Given the description of an element on the screen output the (x, y) to click on. 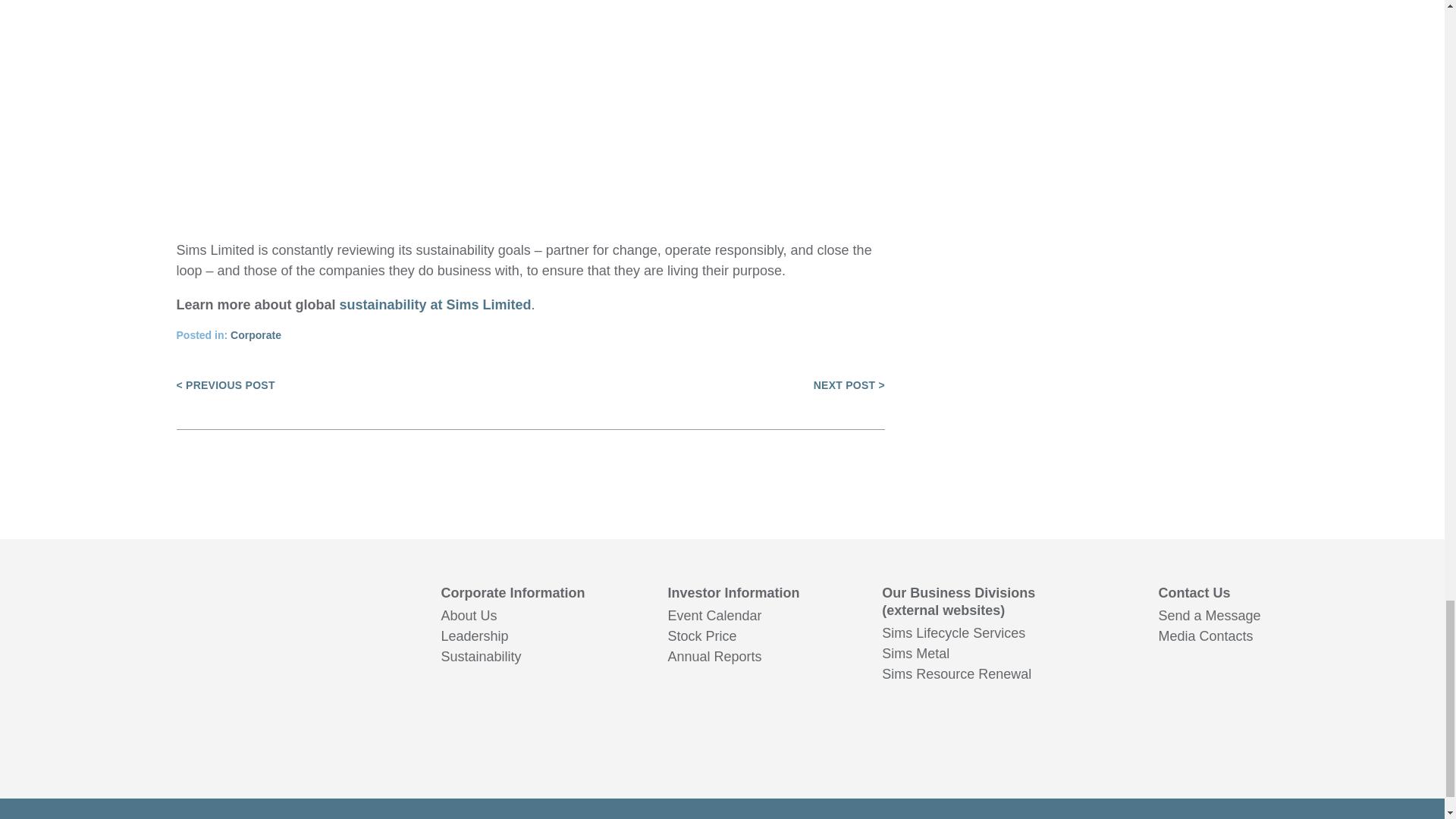
Sims Limited - Terra Carta Seal - CEO Vignette (529, 90)
